Given the description of an element on the screen output the (x, y) to click on. 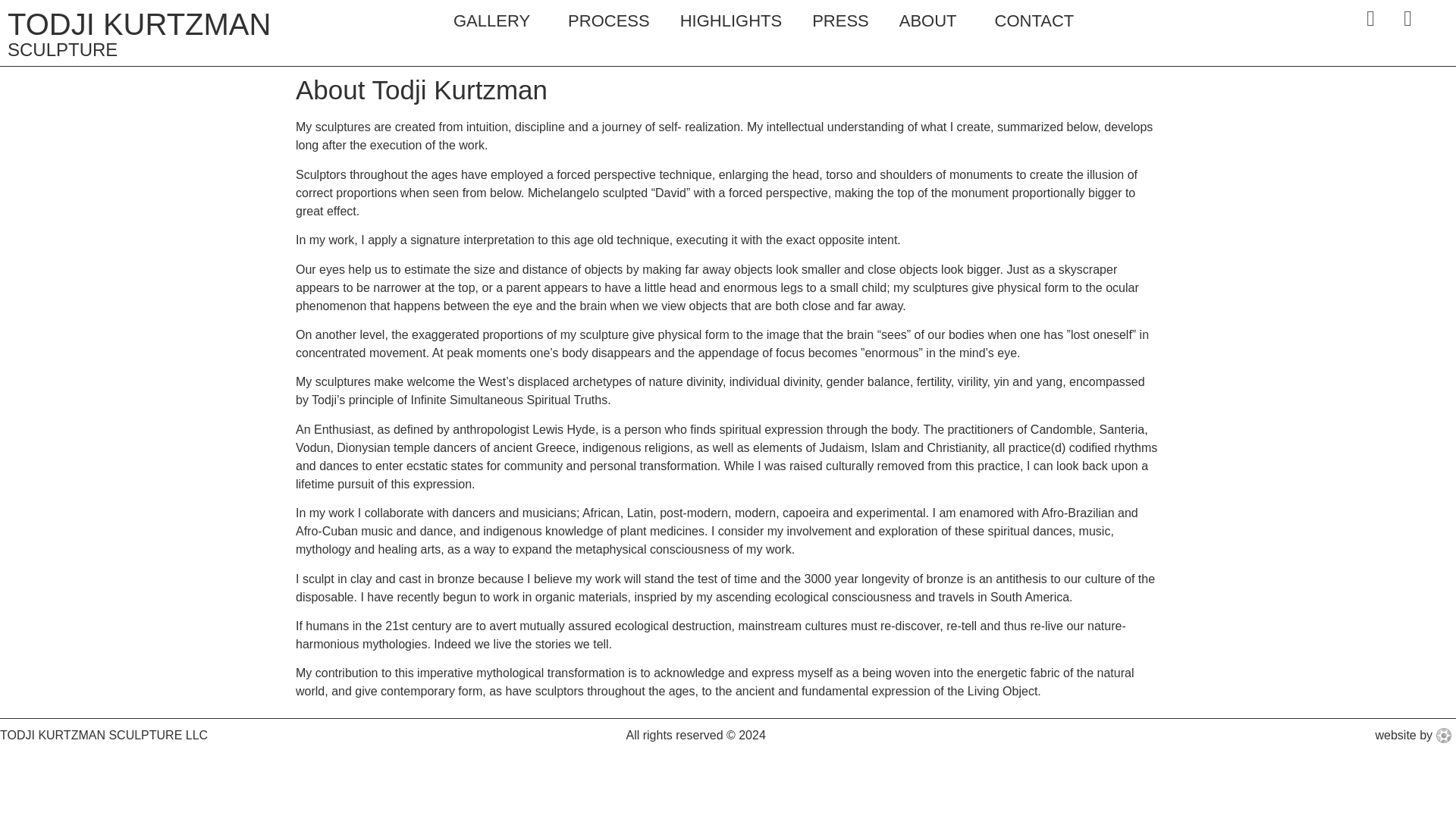
CONTACT (1034, 21)
ABOUT (931, 21)
PROCESS (609, 21)
PRESS (839, 21)
TODJI KURTZMAN (138, 23)
GALLERY (495, 21)
HIGHLIGHTS (730, 21)
